Given the description of an element on the screen output the (x, y) to click on. 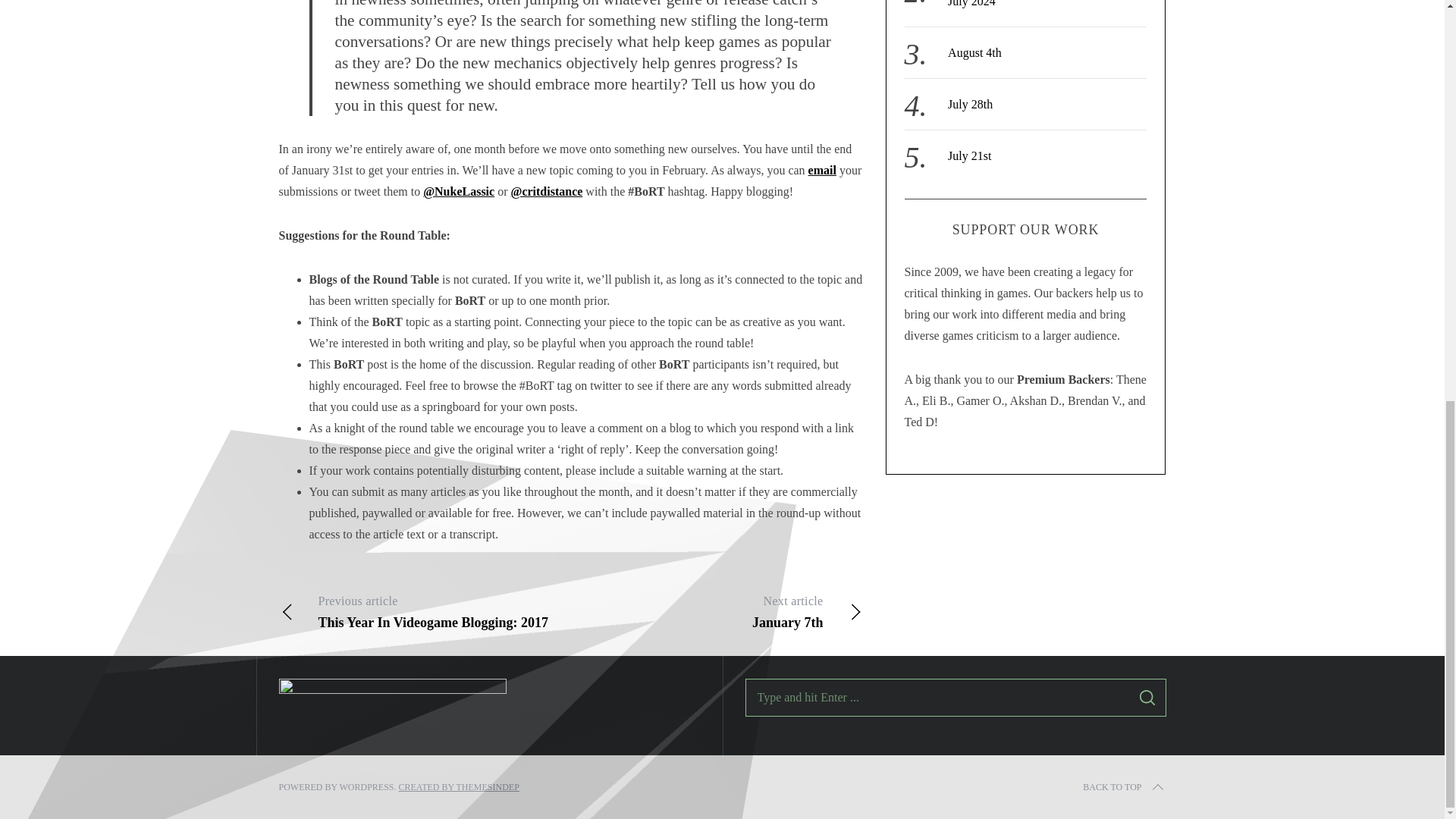
July 28th (969, 103)
email (821, 169)
This Month in Videogame Vlogging, July 2024 (1036, 3)
SEARCH (1147, 697)
BACK TO TOP (1124, 787)
July 21st (424, 611)
August 4th (969, 155)
CREATED BY THEMESINDEP (715, 611)
